Given the description of an element on the screen output the (x, y) to click on. 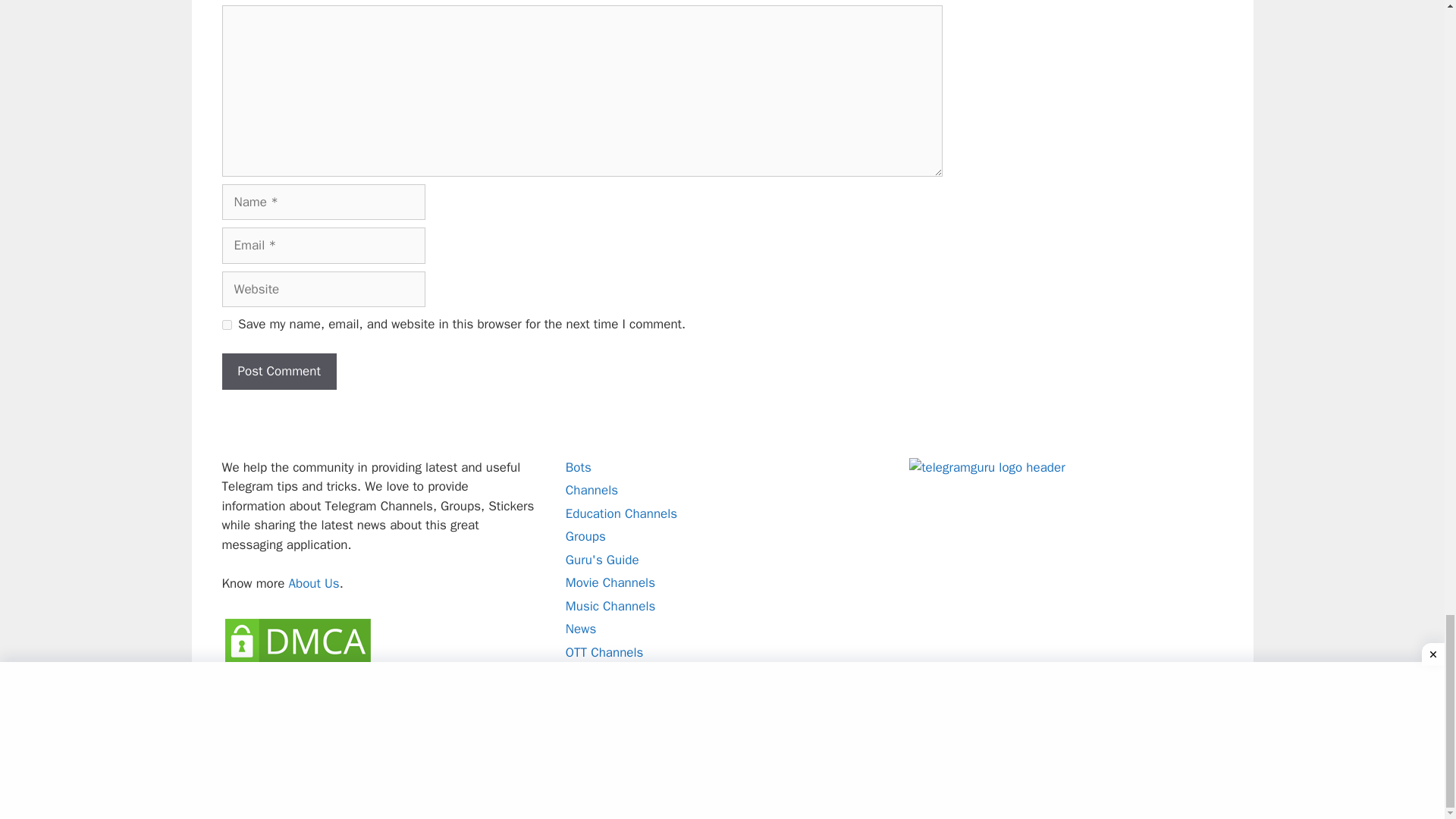
Content Protection by DMCA.com (296, 687)
Post Comment (278, 370)
yes (226, 325)
Post Comment (278, 370)
